Given the description of an element on the screen output the (x, y) to click on. 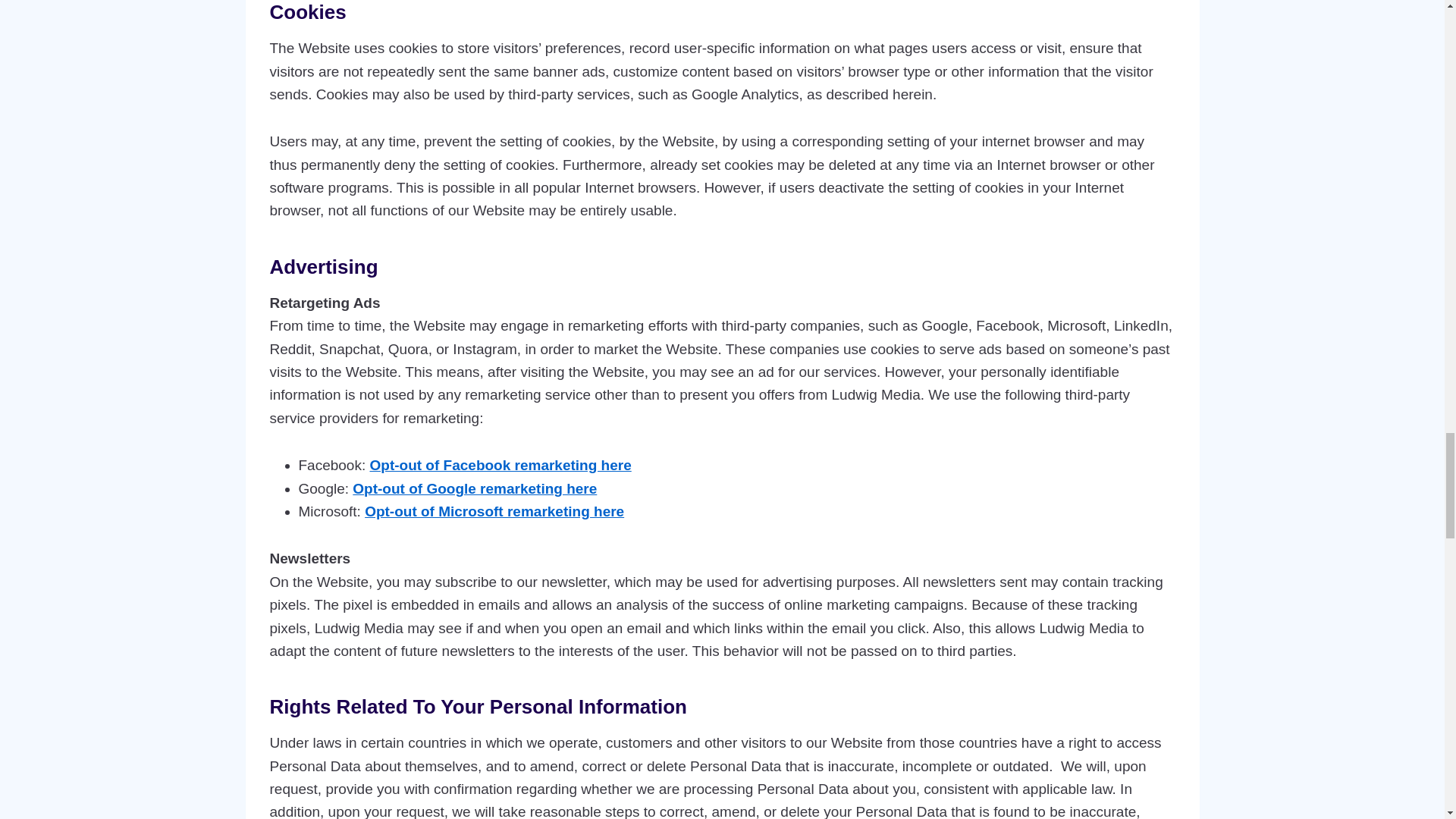
Opt-out of Google remarketing here (474, 488)
Opt-out of Microsoft remarketing here (494, 511)
Opt-out of Facebook remarketing here (500, 465)
